Given the description of an element on the screen output the (x, y) to click on. 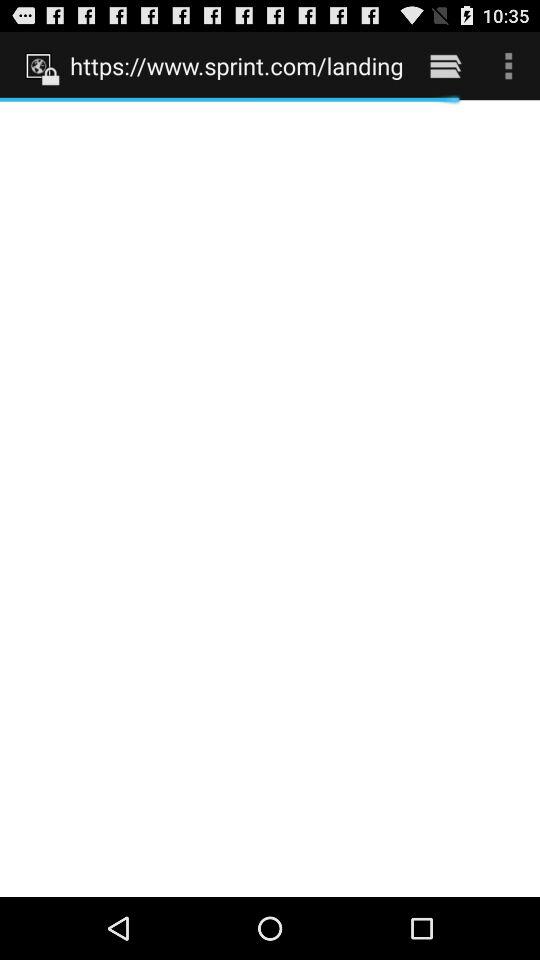
open the item next to https www sprint item (444, 65)
